Given the description of an element on the screen output the (x, y) to click on. 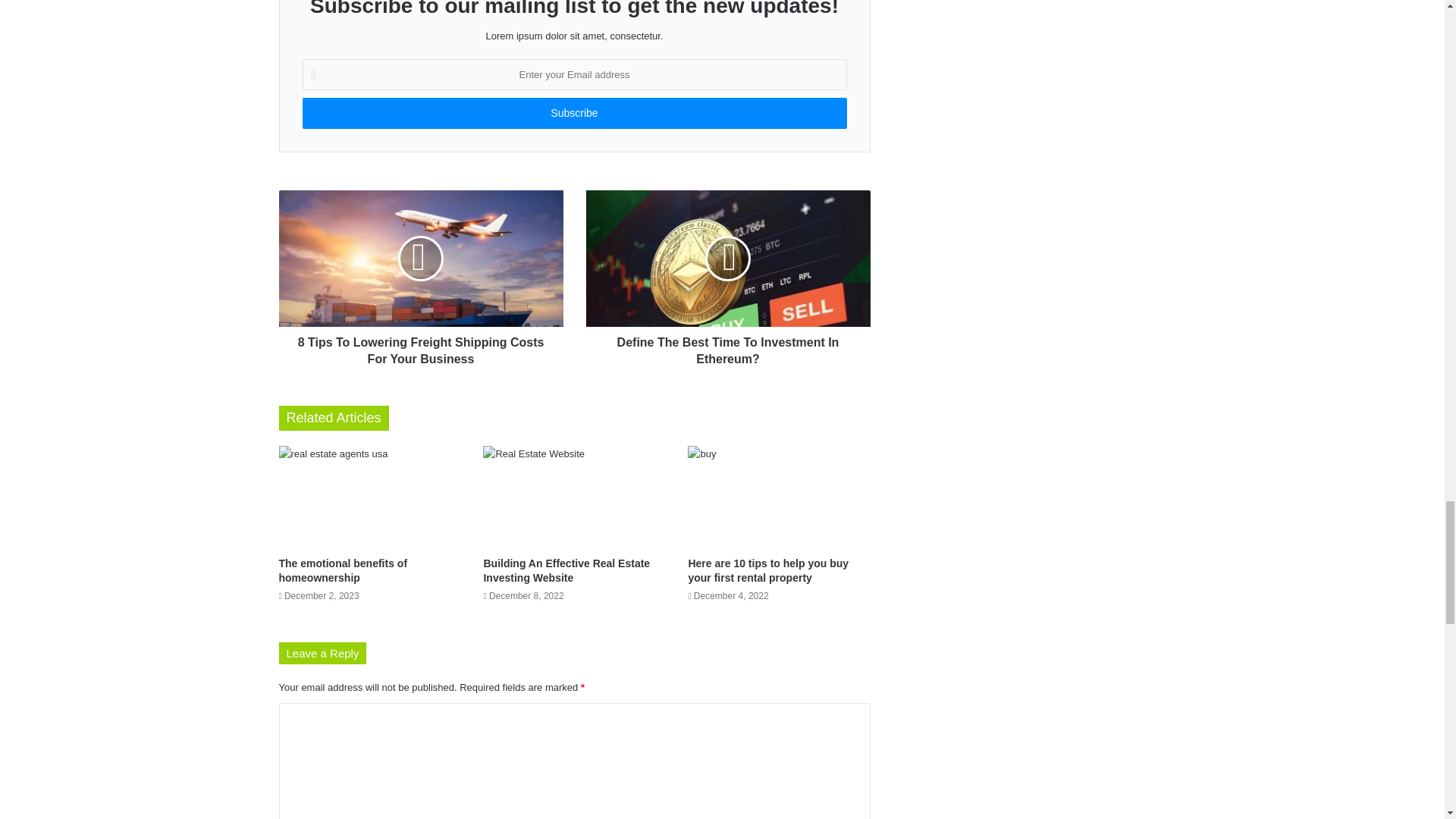
Subscribe (573, 112)
